Given the description of an element on the screen output the (x, y) to click on. 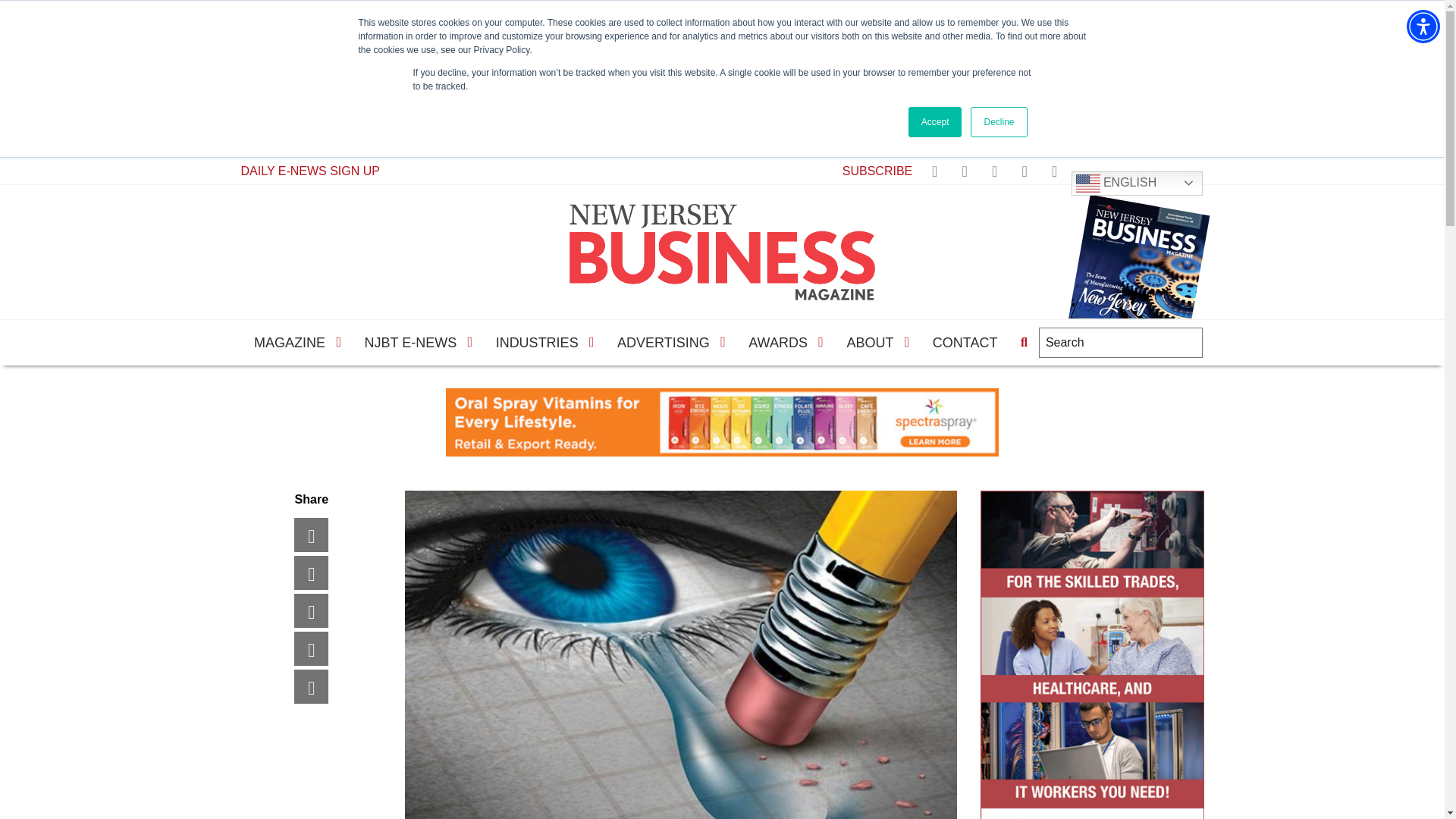
Facebook (325, 534)
Accessibility Menu (1422, 26)
Twitter (325, 572)
Accept (935, 122)
Spectra Spray (721, 422)
Decline (998, 122)
